Given the description of an element on the screen output the (x, y) to click on. 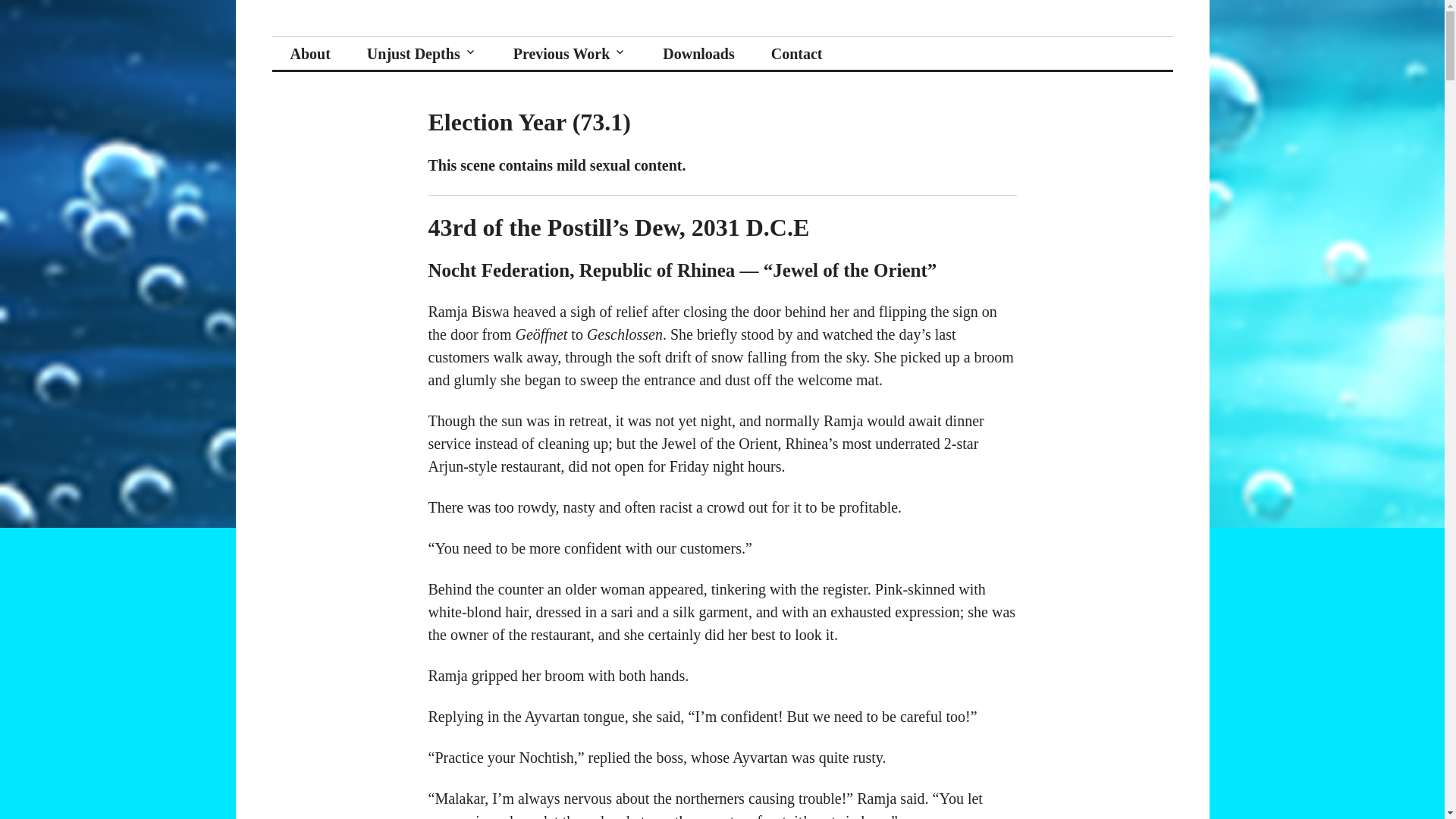
Contact (796, 53)
Unjust Depths (364, 35)
Downloads (698, 53)
About (308, 53)
Previous Work (570, 53)
Unjust Depths (422, 53)
